Given the description of an element on the screen output the (x, y) to click on. 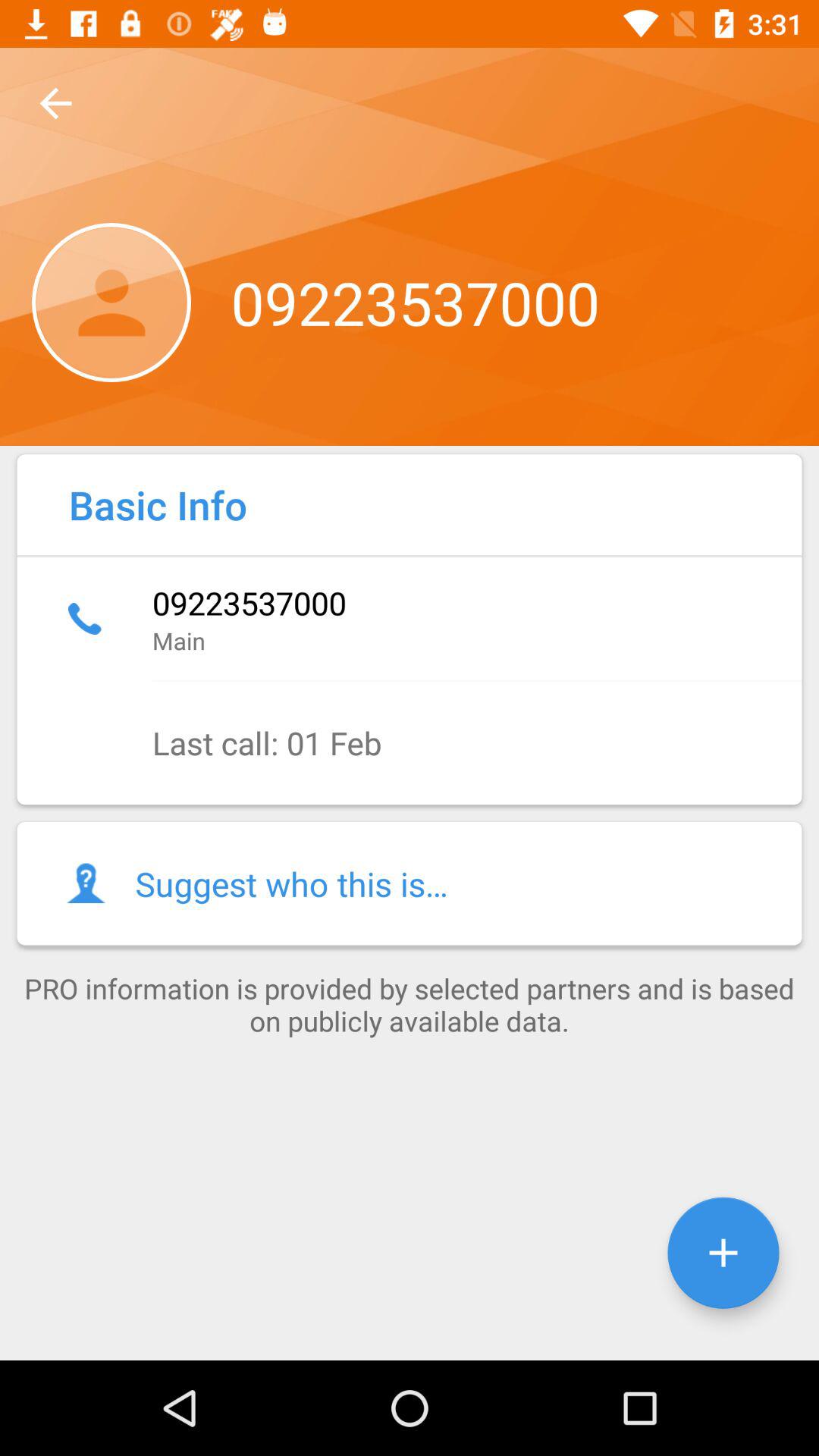
press icon at the bottom right corner (723, 1252)
